Given the description of an element on the screen output the (x, y) to click on. 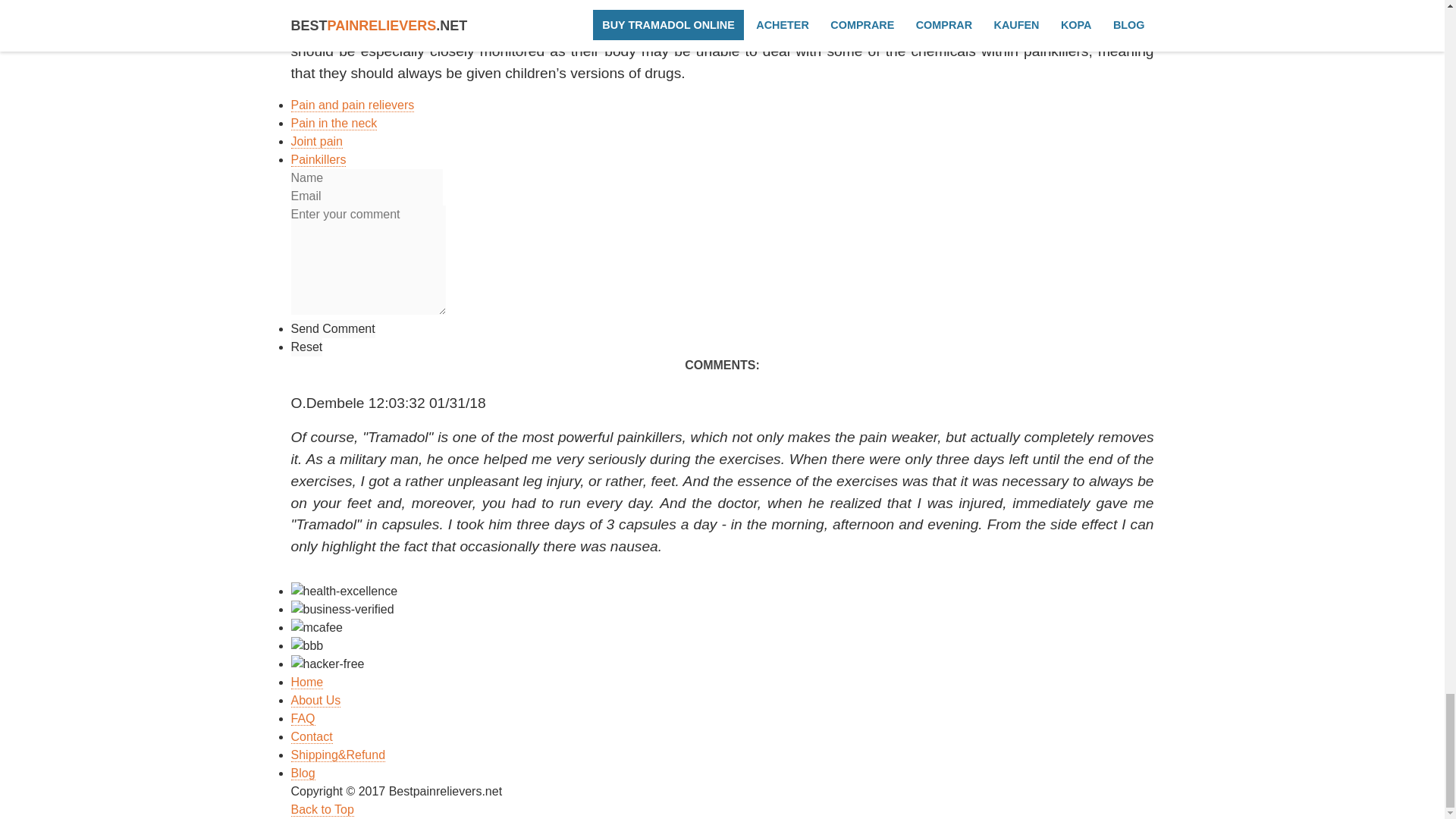
Contact (312, 736)
FAQ (303, 718)
Send Comment (333, 329)
Home (307, 682)
Pain and pain relievers (352, 105)
Back to Top (322, 809)
Reset (307, 347)
Joint pain (317, 141)
Pain in the neck (334, 123)
Send Comment (333, 329)
Blog (303, 773)
Painkillers (318, 160)
About Us (315, 700)
